Given the description of an element on the screen output the (x, y) to click on. 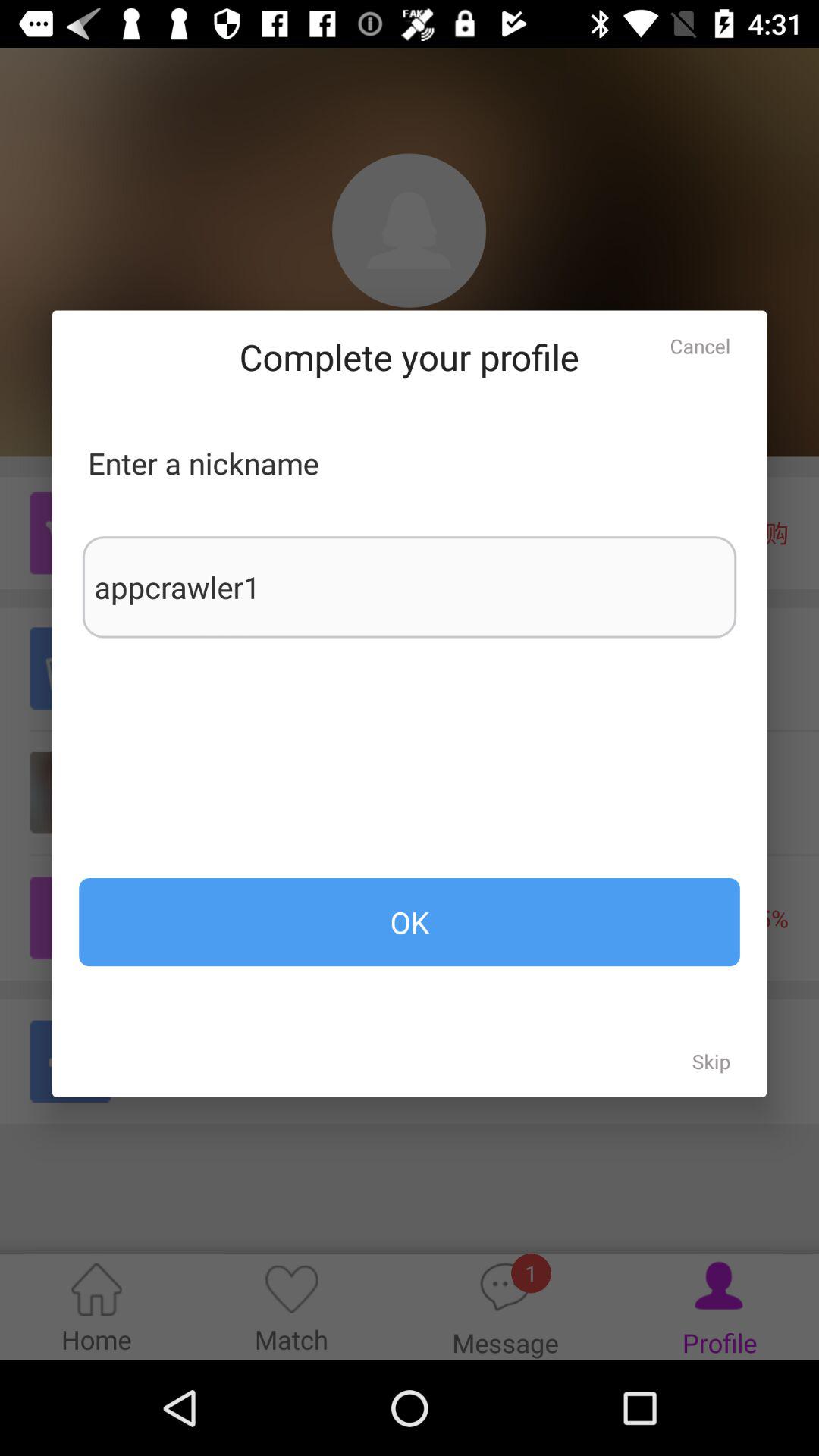
swipe to ok (409, 922)
